Given the description of an element on the screen output the (x, y) to click on. 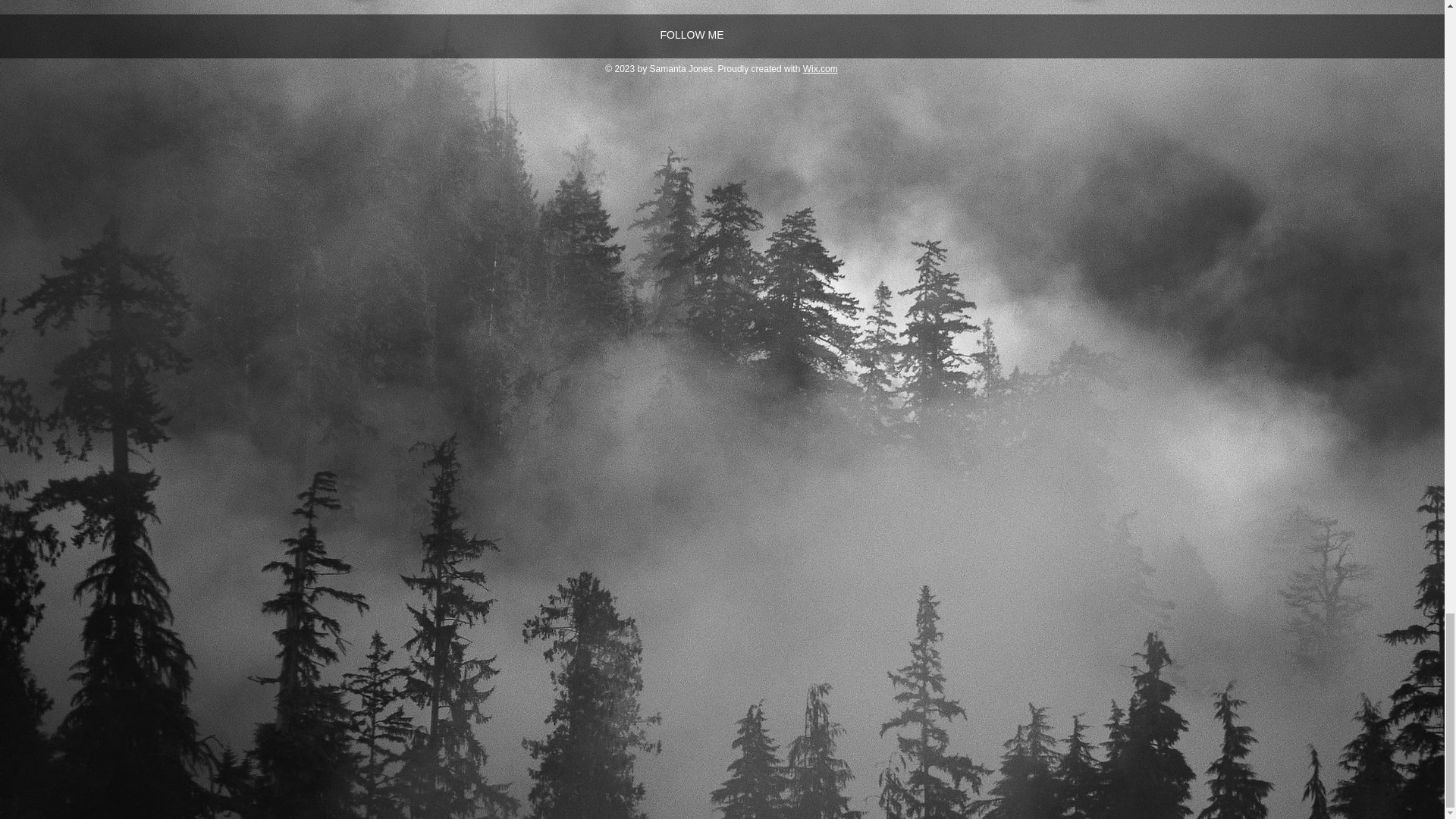
Wix.com (820, 68)
